Given the description of an element on the screen output the (x, y) to click on. 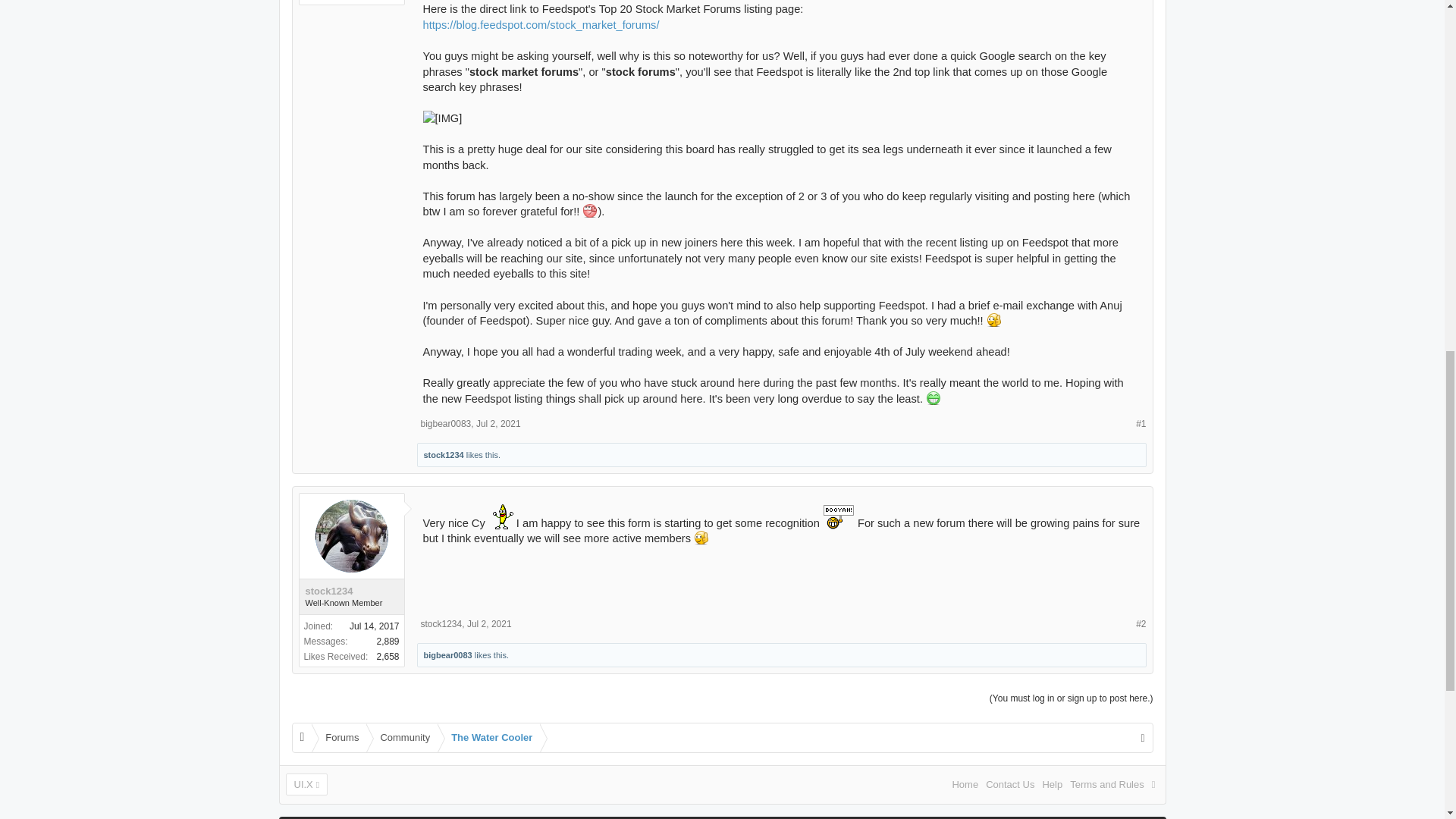
Inlove    :inlove: (589, 210)
ThumbsUp    :thumbsup: (994, 319)
Booyah    :booyah: (838, 515)
ThumbsUp    :thumbsup: (700, 537)
Permalink (498, 423)
Big Grin    :D (933, 397)
